Given the description of an element on the screen output the (x, y) to click on. 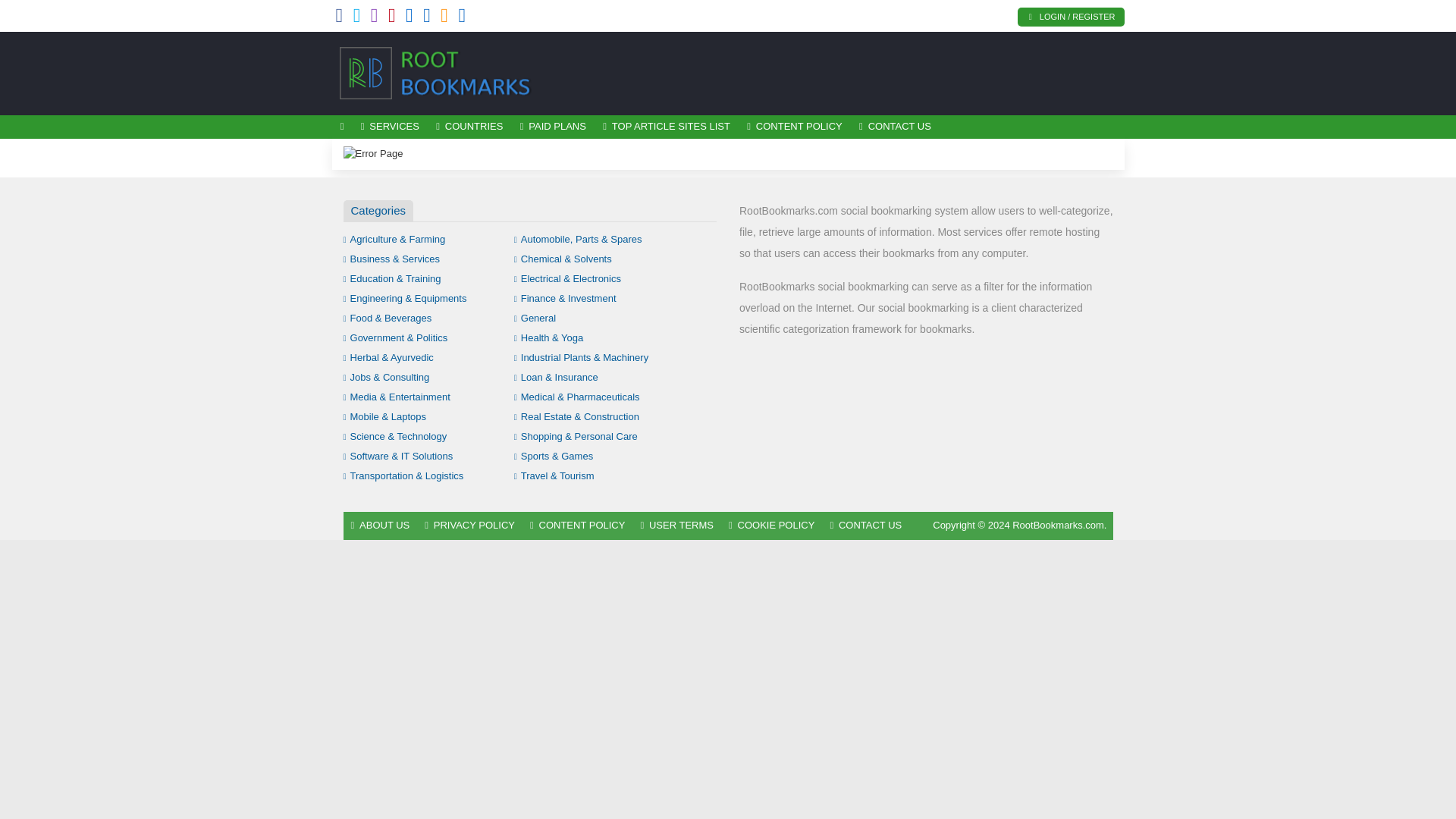
SERVICES (390, 126)
General (534, 317)
CONTENT POLICY (794, 126)
CONTACT US (894, 126)
TOP ARTICLE SITES LIST (666, 126)
PAID PLANS (553, 126)
COUNTRIES (469, 126)
